Given the description of an element on the screen output the (x, y) to click on. 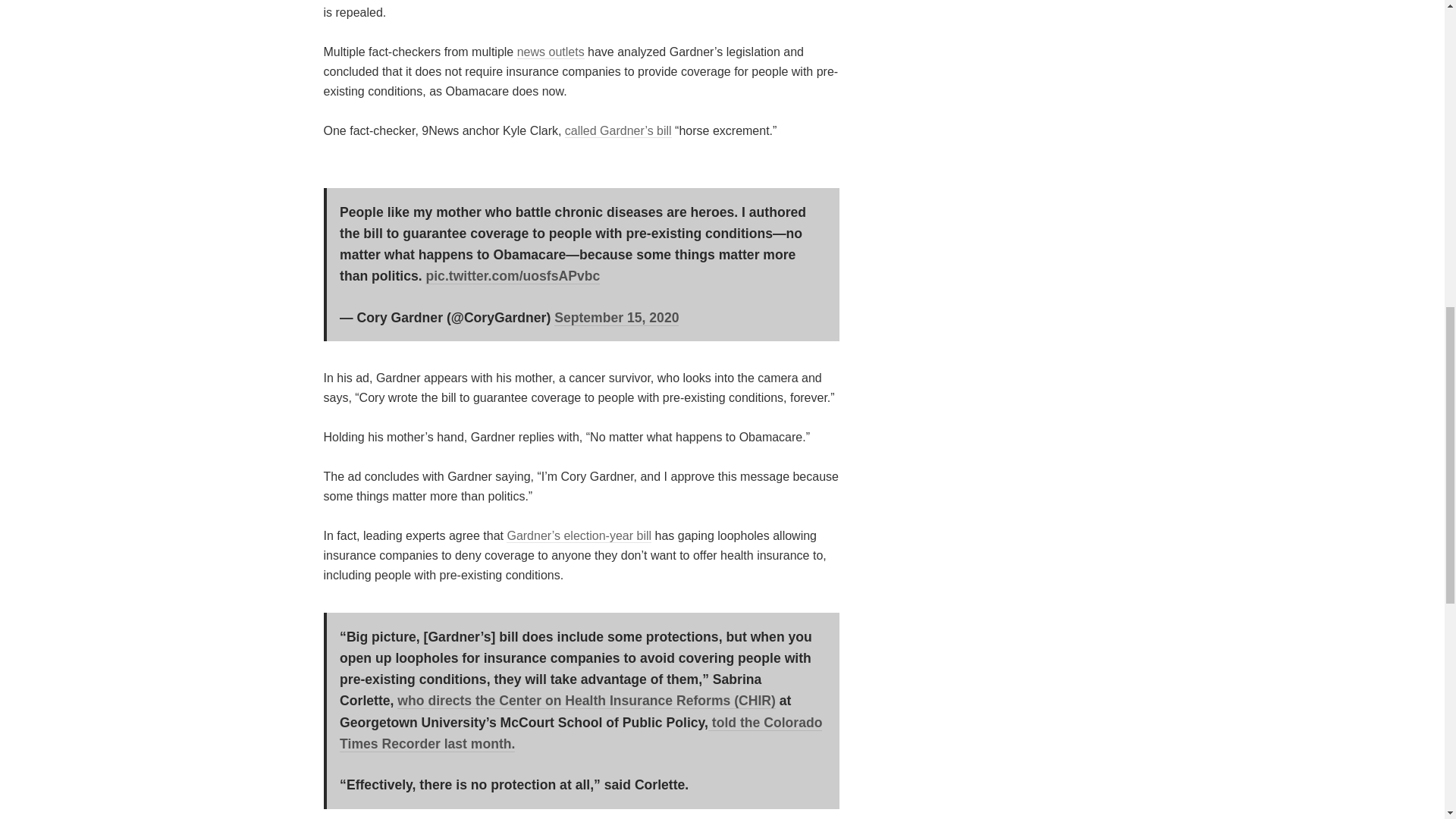
news outlets (550, 51)
September 15, 2020 (616, 317)
told the Colorado Times Recorder last month. (580, 733)
